Given the description of an element on the screen output the (x, y) to click on. 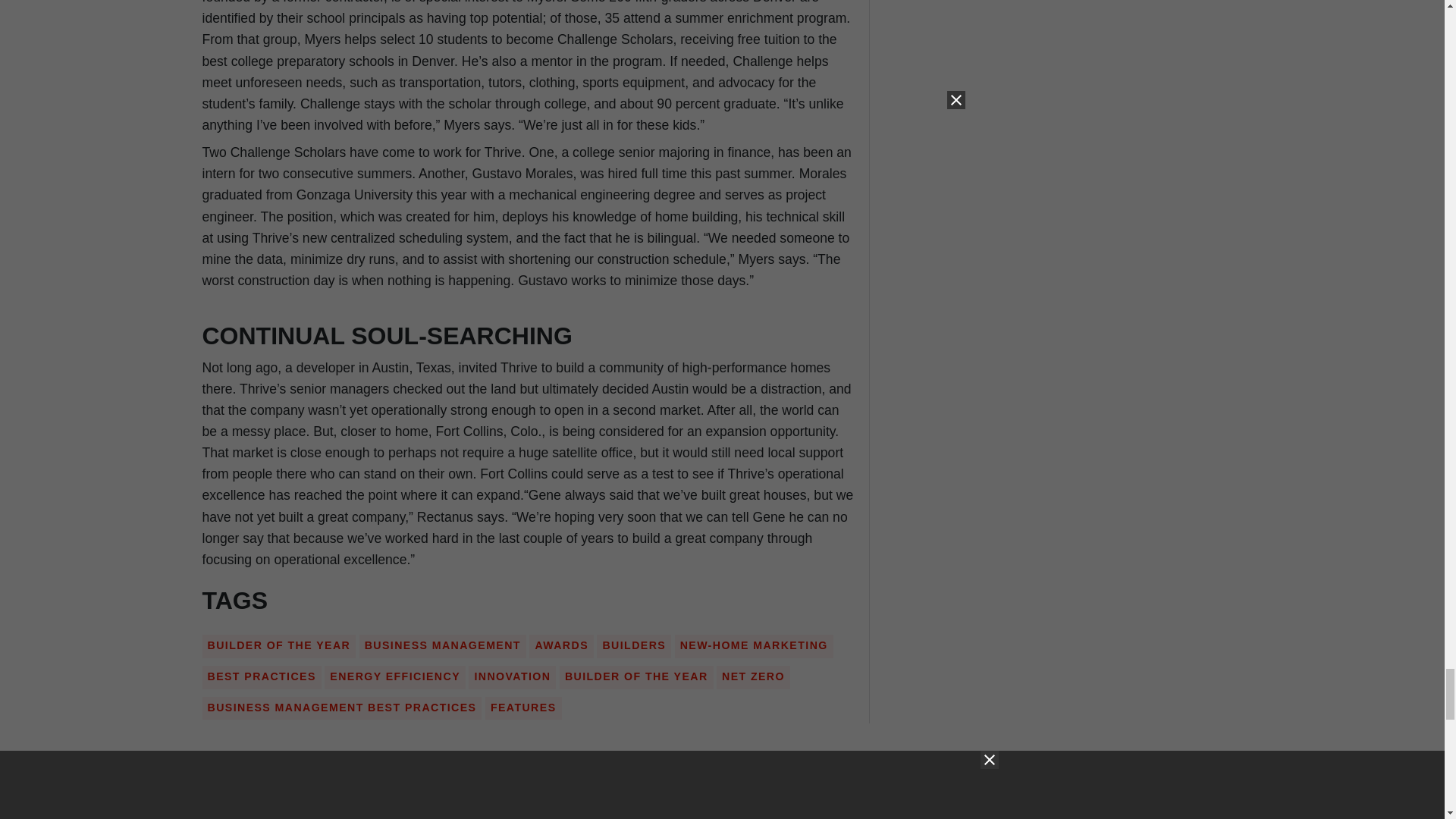
AWARDS (561, 645)
NEW-HOME MARKETING (753, 645)
3rd party ad content (527, 790)
BUILDER OF THE YEAR (279, 645)
BUSINESS MANAGEMENT (443, 645)
BUILDERS (633, 645)
BEST PRACTICES (261, 676)
